Given the description of an element on the screen output the (x, y) to click on. 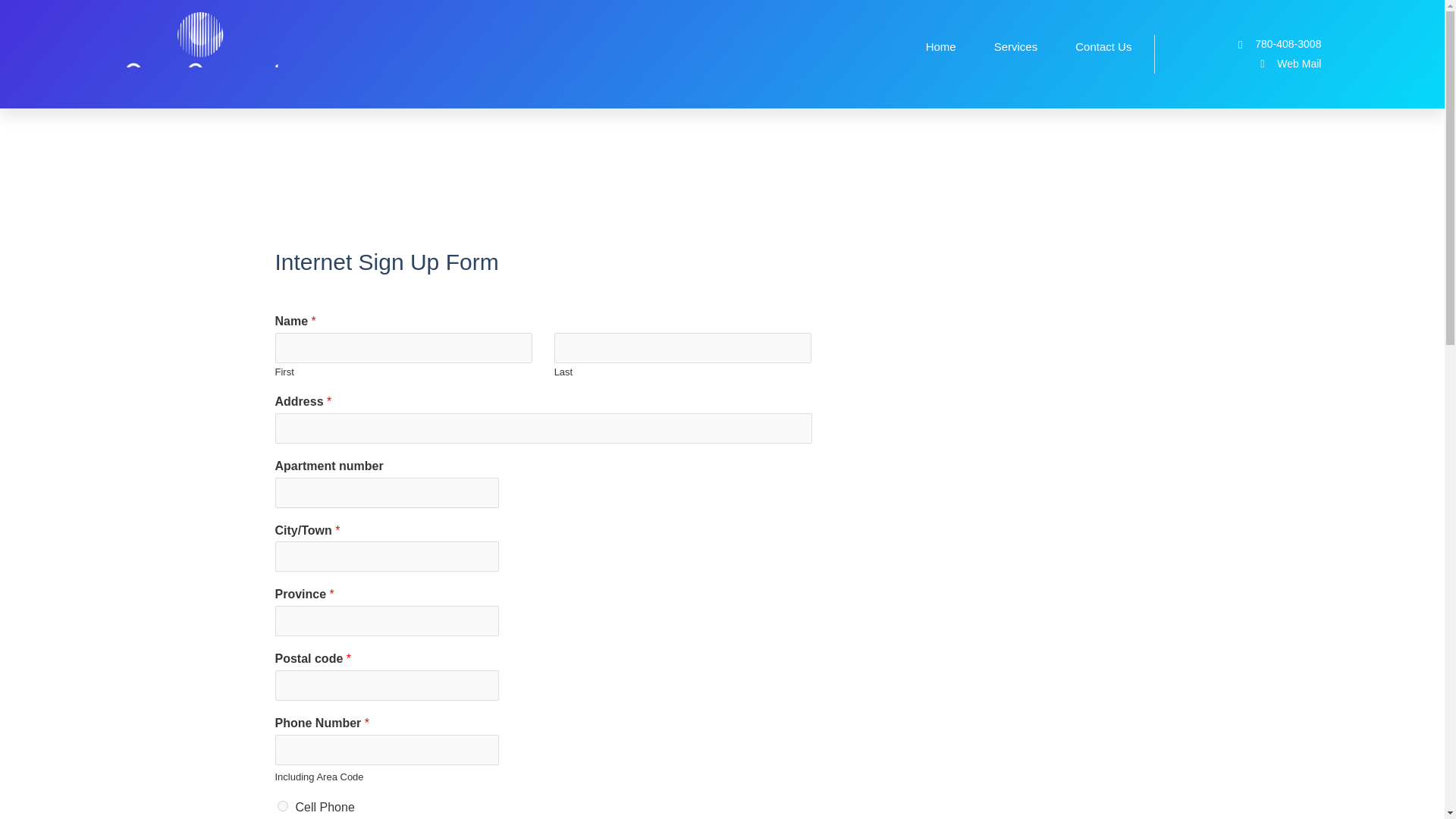
Cell Phone (283, 805)
Web Mail (1237, 63)
780-408-3008 (1237, 44)
